Given the description of an element on the screen output the (x, y) to click on. 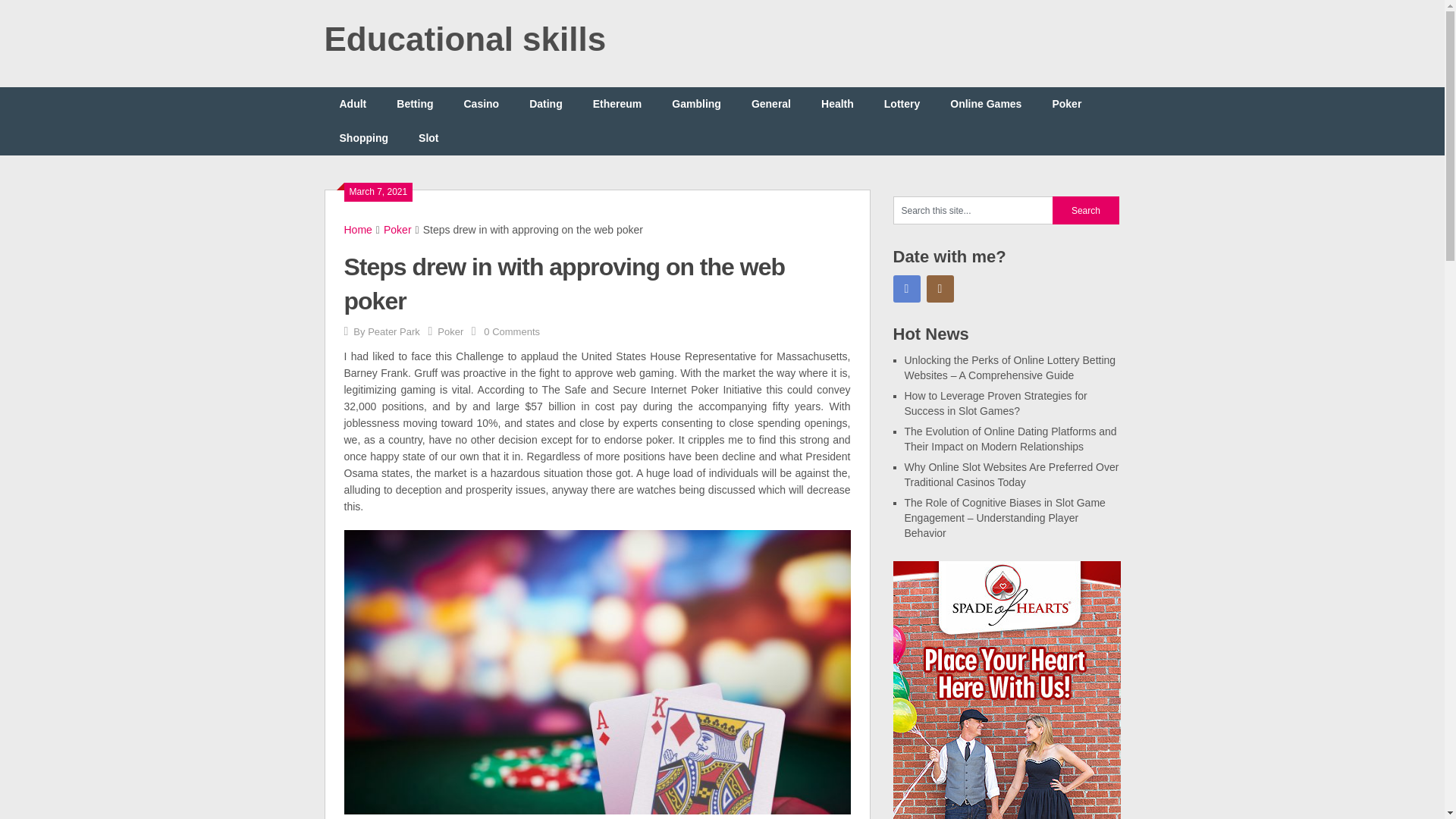
Slot (427, 138)
Search (1085, 210)
Poker (1066, 103)
Poker (450, 331)
Instagram (939, 288)
Online Games (985, 103)
Posts by Peater Park (394, 331)
Casino (480, 103)
Ethereum (618, 103)
Poker (398, 229)
General (771, 103)
Search this site... (972, 210)
Gambling (696, 103)
